Given the description of an element on the screen output the (x, y) to click on. 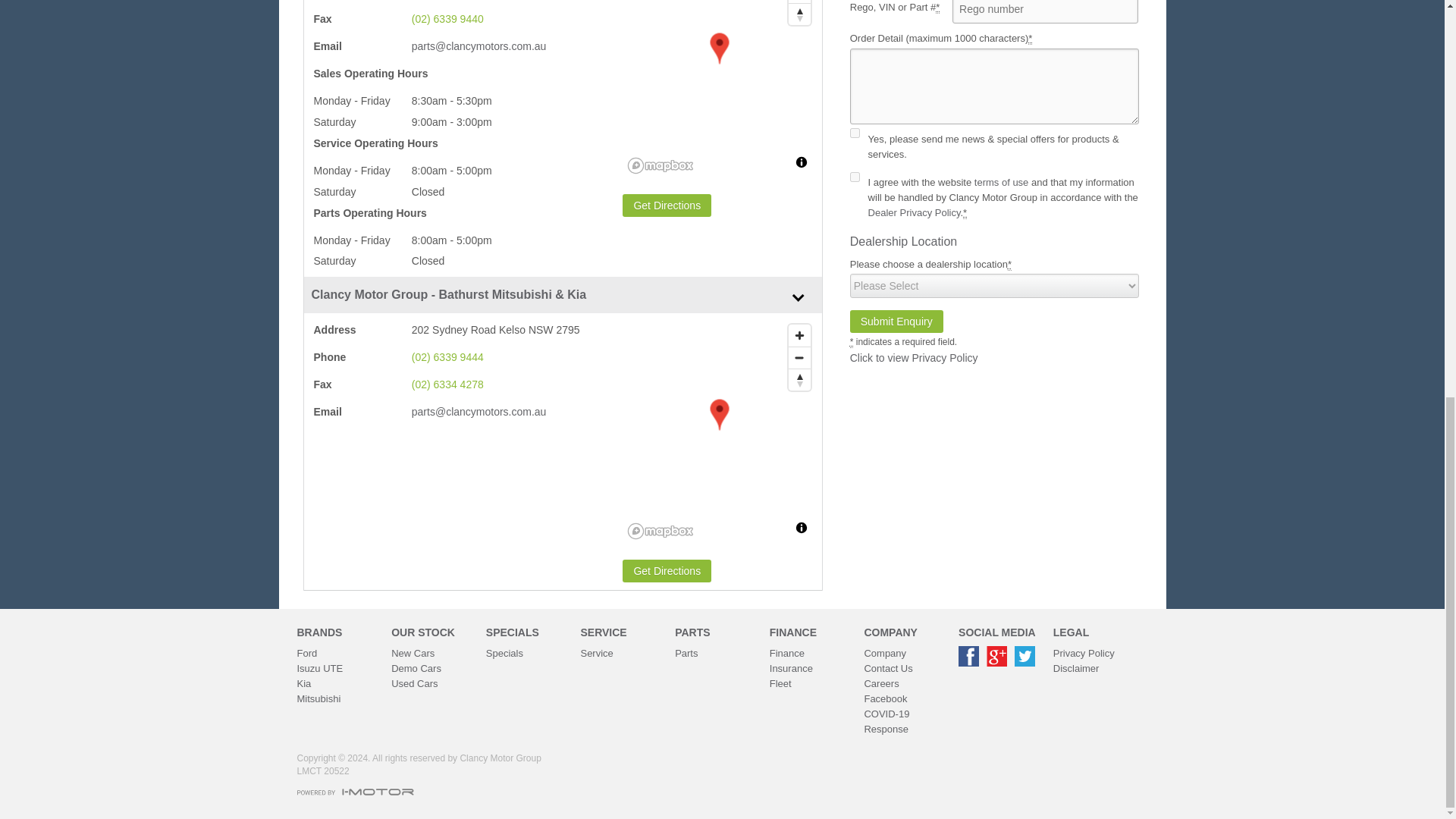
Submit Enquiry (896, 321)
yes (855, 132)
True (855, 176)
